Given the description of an element on the screen output the (x, y) to click on. 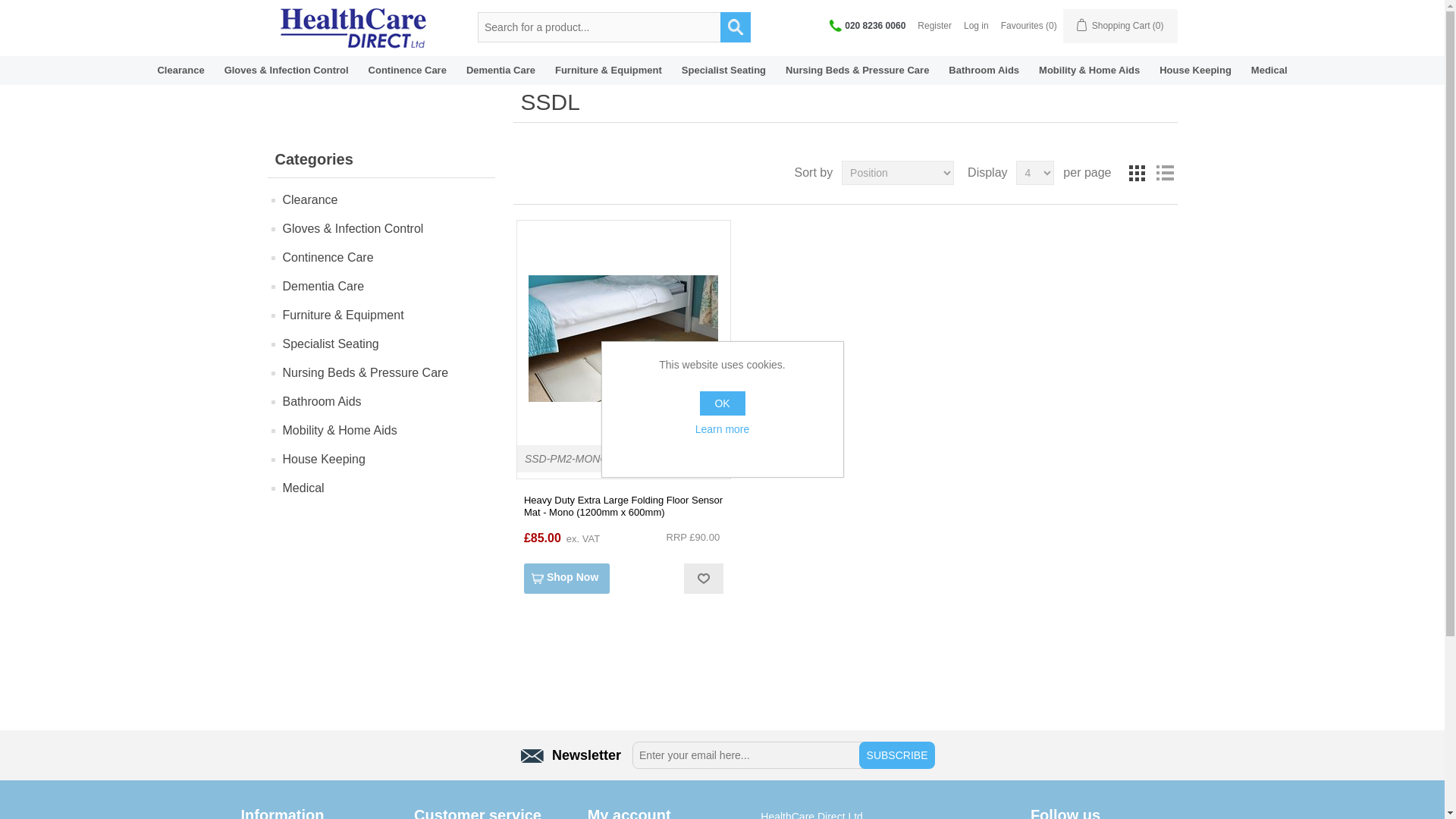
Grid (1137, 172)
Add to favourite (702, 578)
ADVANCED SEARCH (735, 27)
Continence Care (407, 69)
Clearance (180, 69)
Register (934, 26)
List (1164, 172)
Log in (975, 26)
020 8236 0060 (867, 25)
